Given the description of an element on the screen output the (x, y) to click on. 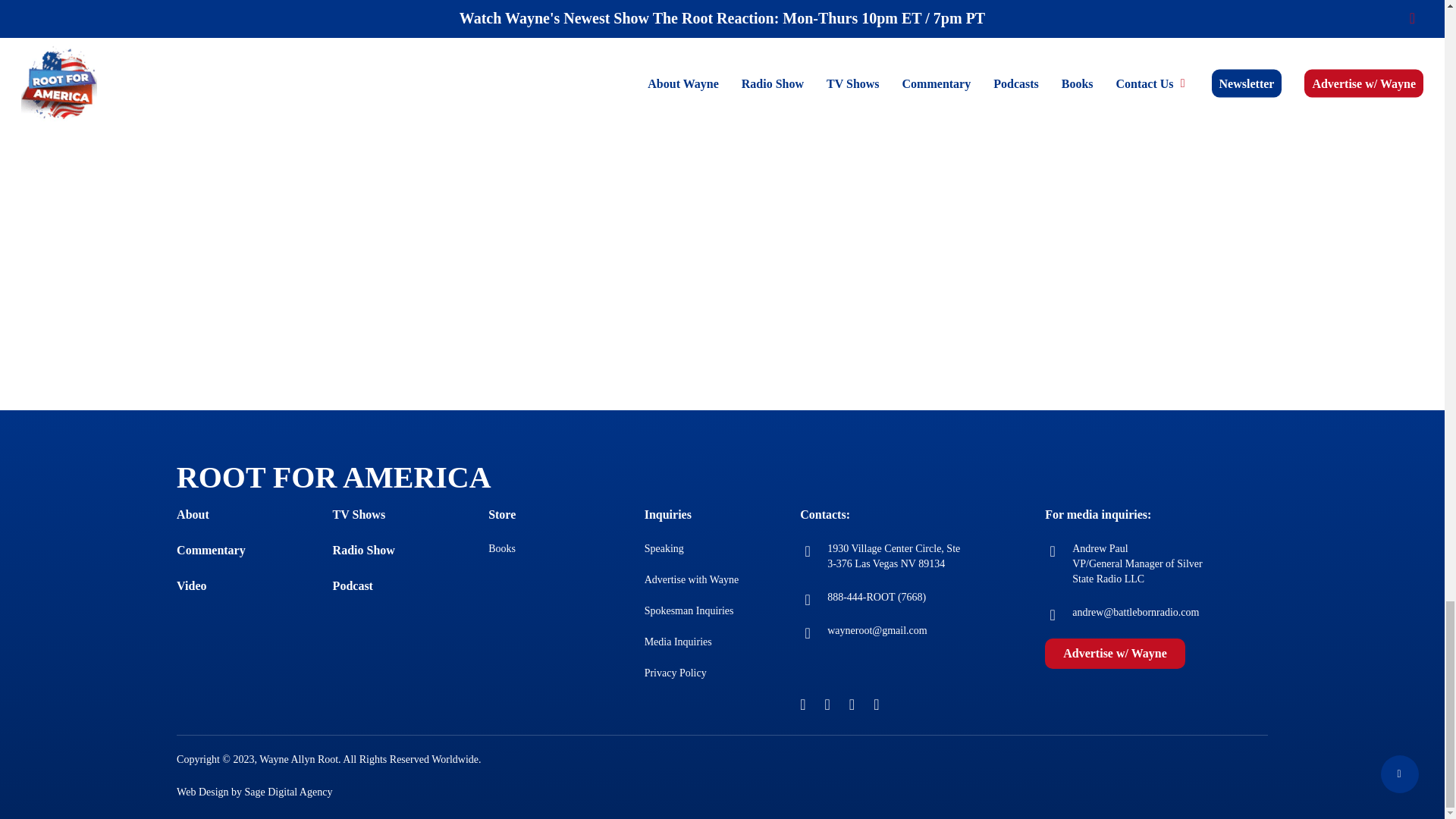
Speaking (664, 548)
Books (501, 548)
Radio Show (363, 549)
About (192, 513)
Books (501, 548)
Media Inquiries (678, 641)
Commentary (211, 549)
Podcast (352, 585)
Podcast (352, 585)
Advertise with Wayne (692, 579)
